Given the description of an element on the screen output the (x, y) to click on. 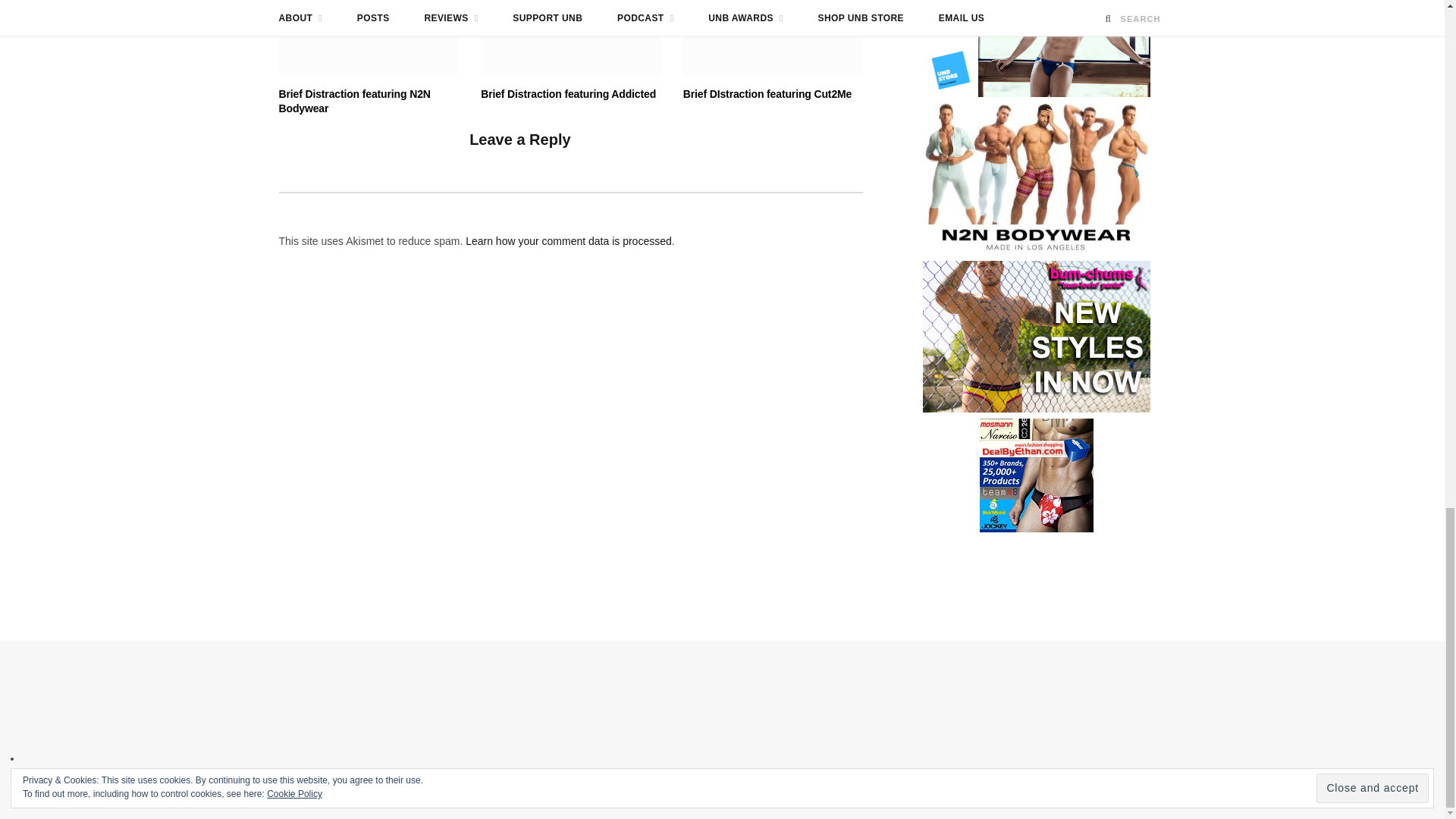
Brief Distraction featuring Addicted (570, 37)
Brief Distraction featuring N2N Bodywear (368, 37)
Brief DIstraction featuring Cut2Me (772, 37)
